Given the description of an element on the screen output the (x, y) to click on. 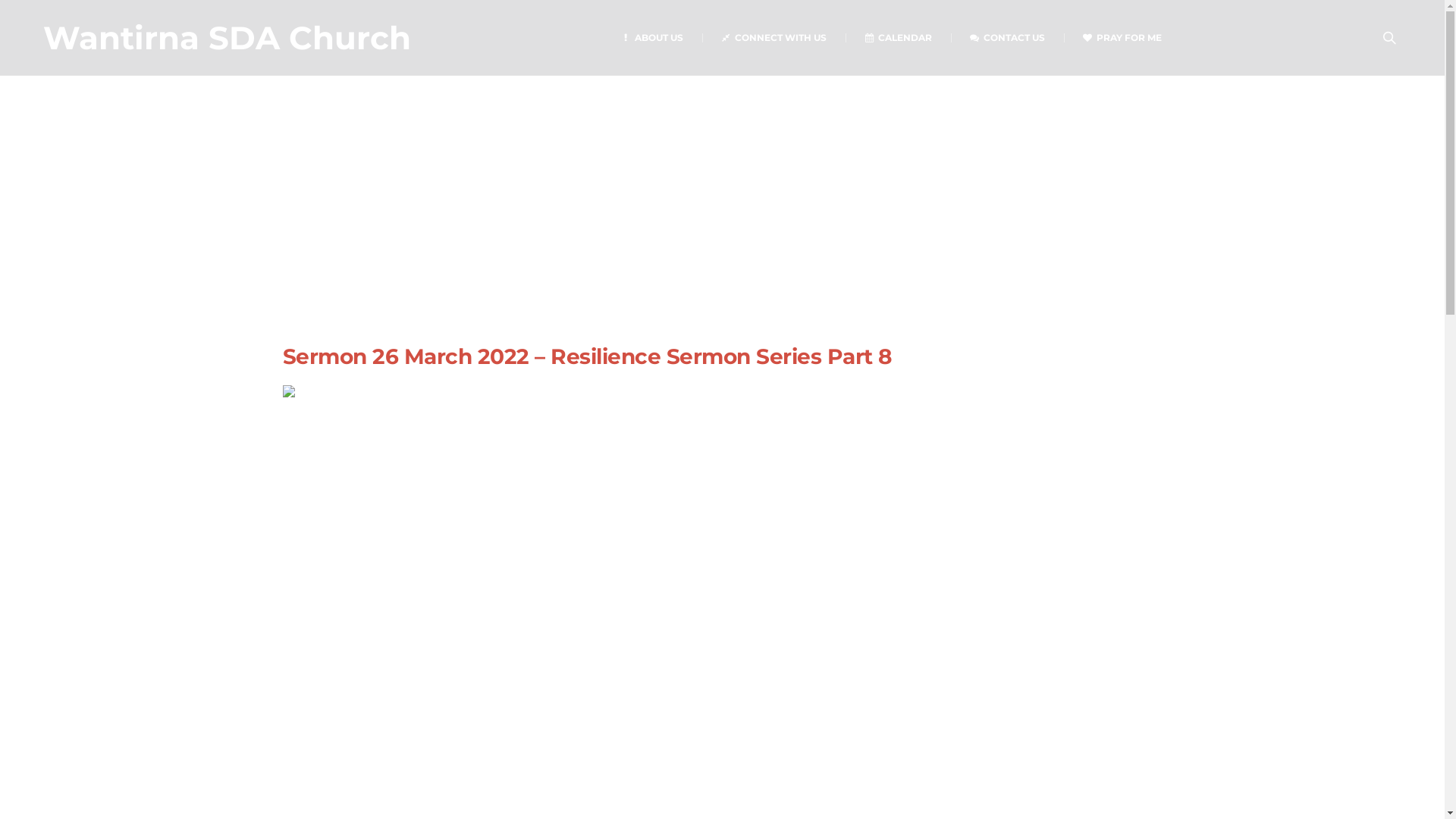
PRAY FOR ME Element type: text (1121, 37)
Wantirna SDA Church Element type: text (227, 37)
CONNECT WITH US Element type: text (773, 37)
CALENDAR Element type: text (897, 37)
ABOUT US Element type: text (652, 37)
CONTACT US Element type: text (1006, 37)
Home Element type: text (545, 273)
